Given the description of an element on the screen output the (x, y) to click on. 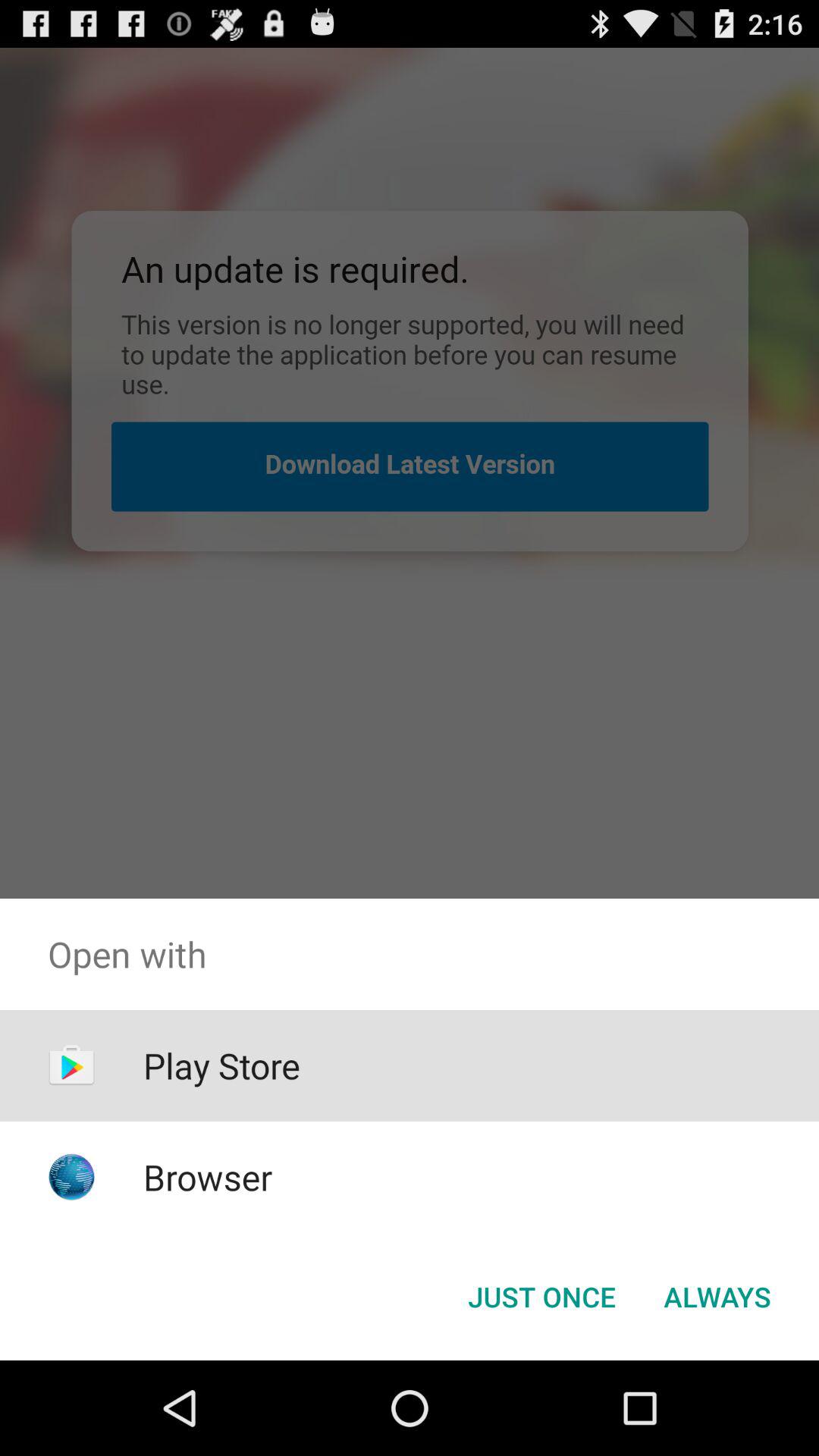
turn off icon below open with (717, 1296)
